Given the description of an element on the screen output the (x, y) to click on. 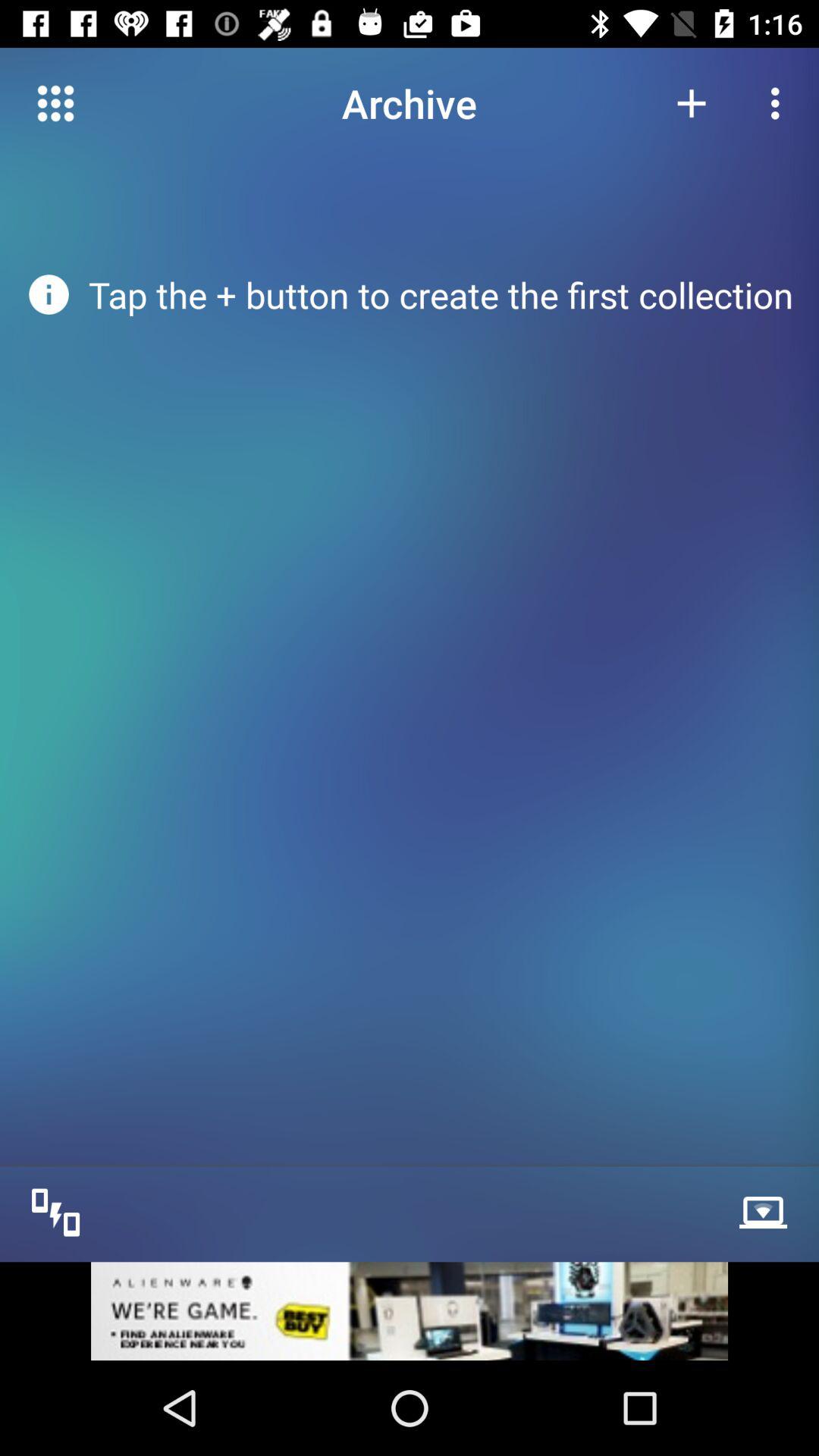
image link to advertisement (409, 1310)
